Given the description of an element on the screen output the (x, y) to click on. 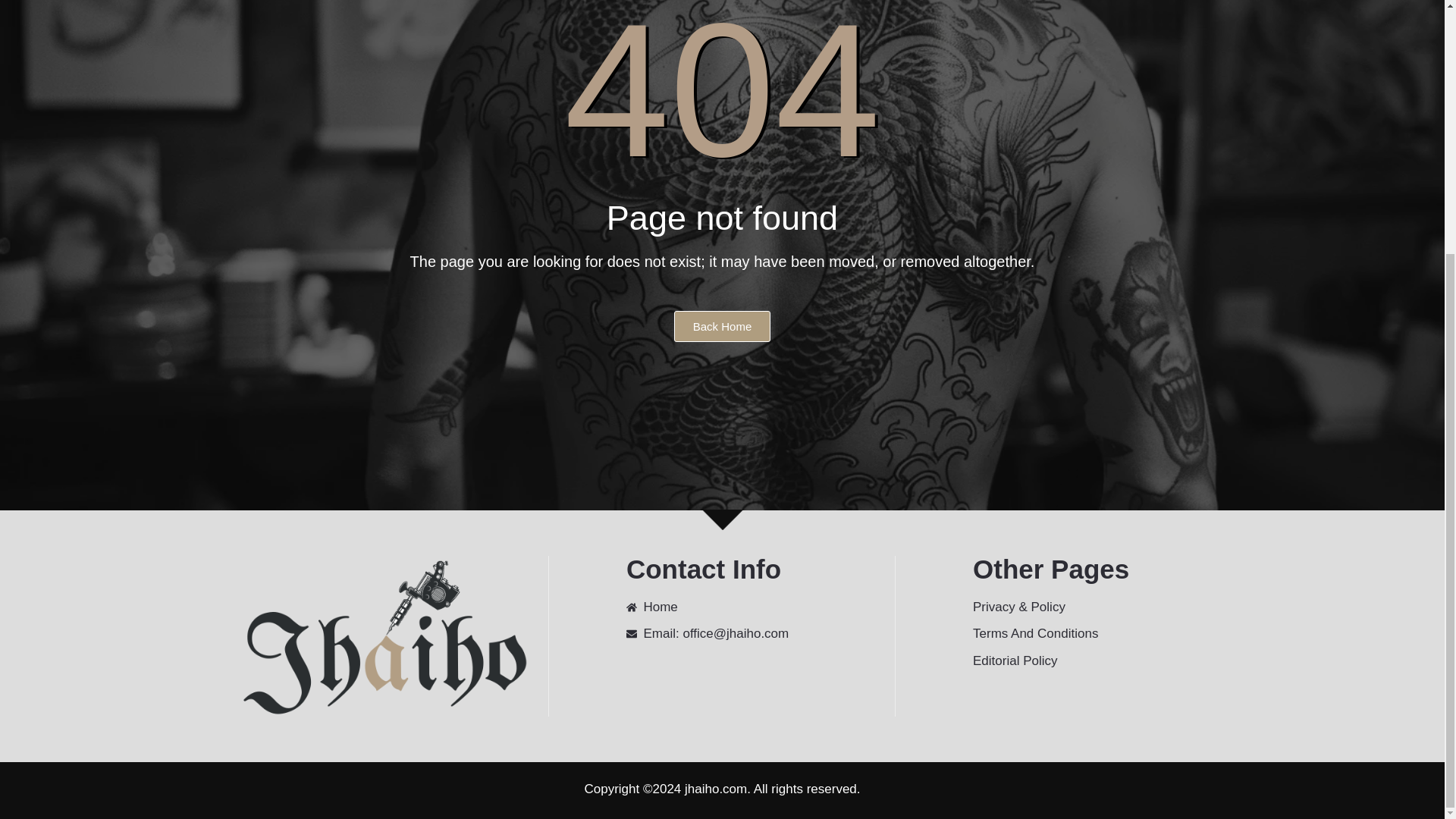
Back Home (721, 326)
Terms And Conditions (1106, 633)
Home (760, 607)
Editorial Policy (1106, 660)
